Given the description of an element on the screen output the (x, y) to click on. 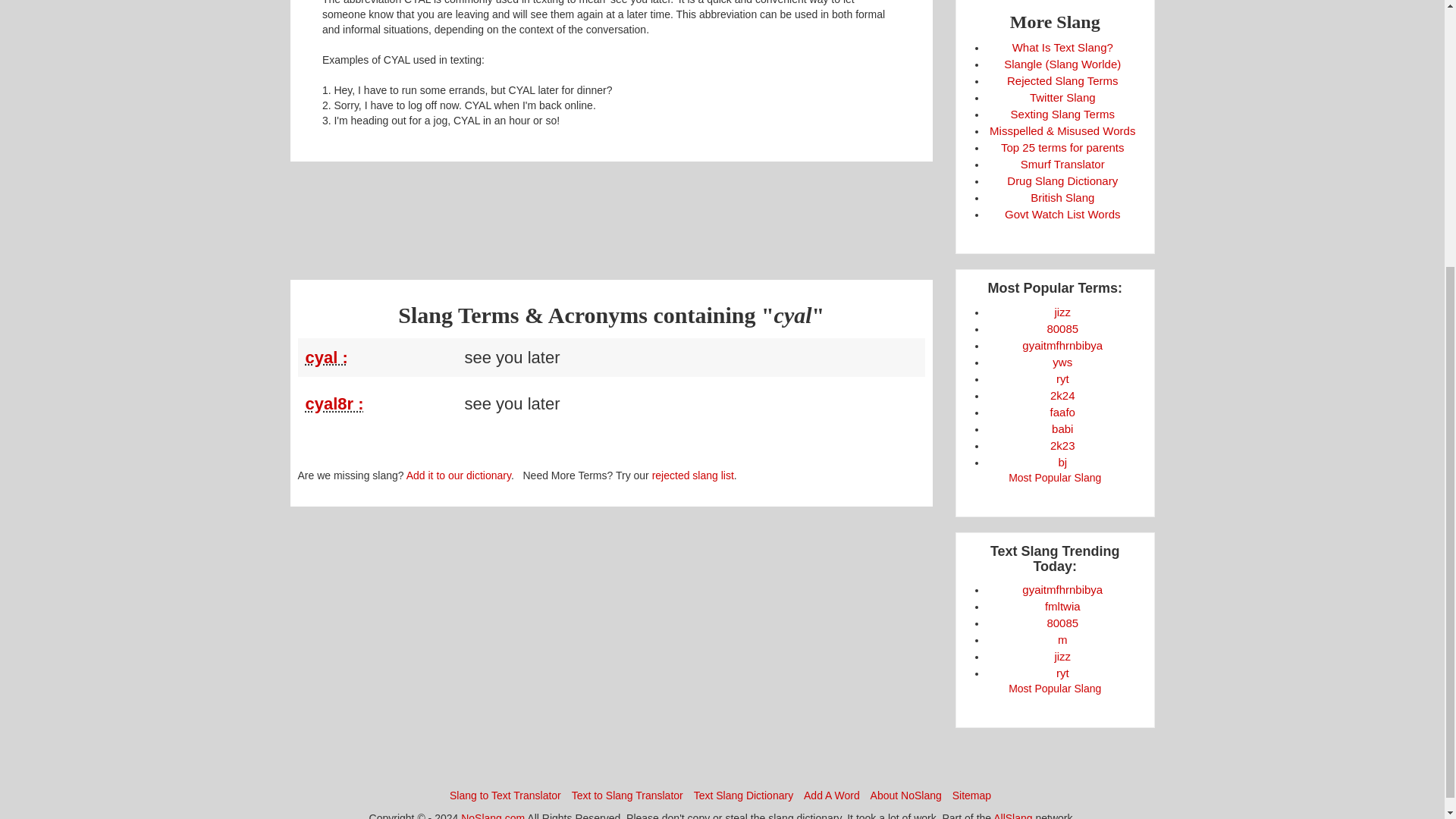
fuck around and find out (1062, 411)
Drug Slang Dictionary (1062, 180)
yws (1061, 361)
Add it to our dictionary (458, 475)
Govt Watch List Words (1062, 214)
Twitter Slang (1062, 97)
2k24 (1062, 395)
Rejected Slang Terms (1062, 80)
gyaitmfhrnbibya (1062, 345)
ryt (1062, 378)
80085 (1062, 328)
British Slang (1062, 196)
Boobs (1062, 328)
fuck me like the whore I am (1062, 605)
right (1062, 672)
